Given the description of an element on the screen output the (x, y) to click on. 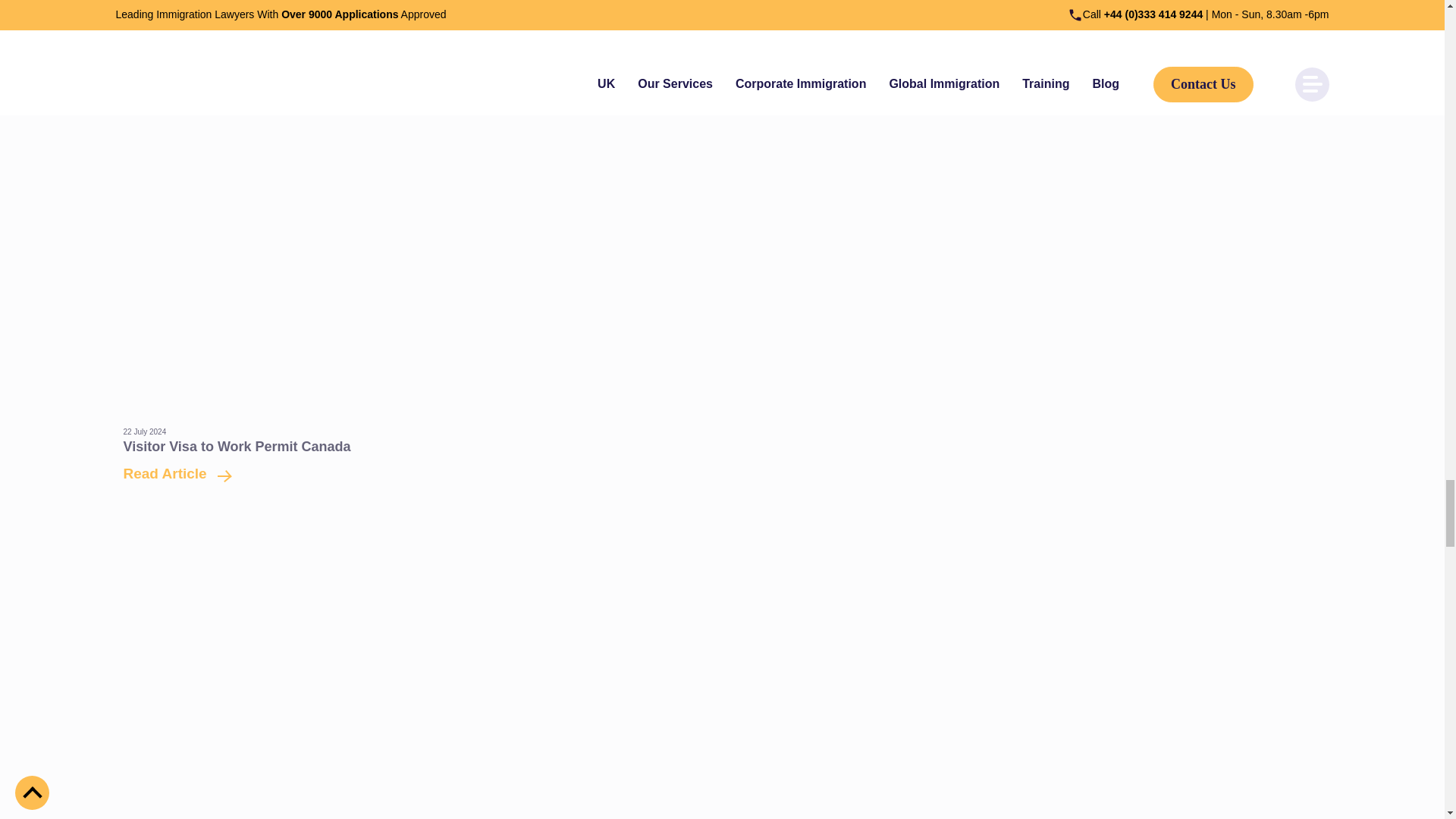
Visitor Visa to Work Permit Canada (236, 446)
